Given the description of an element on the screen output the (x, y) to click on. 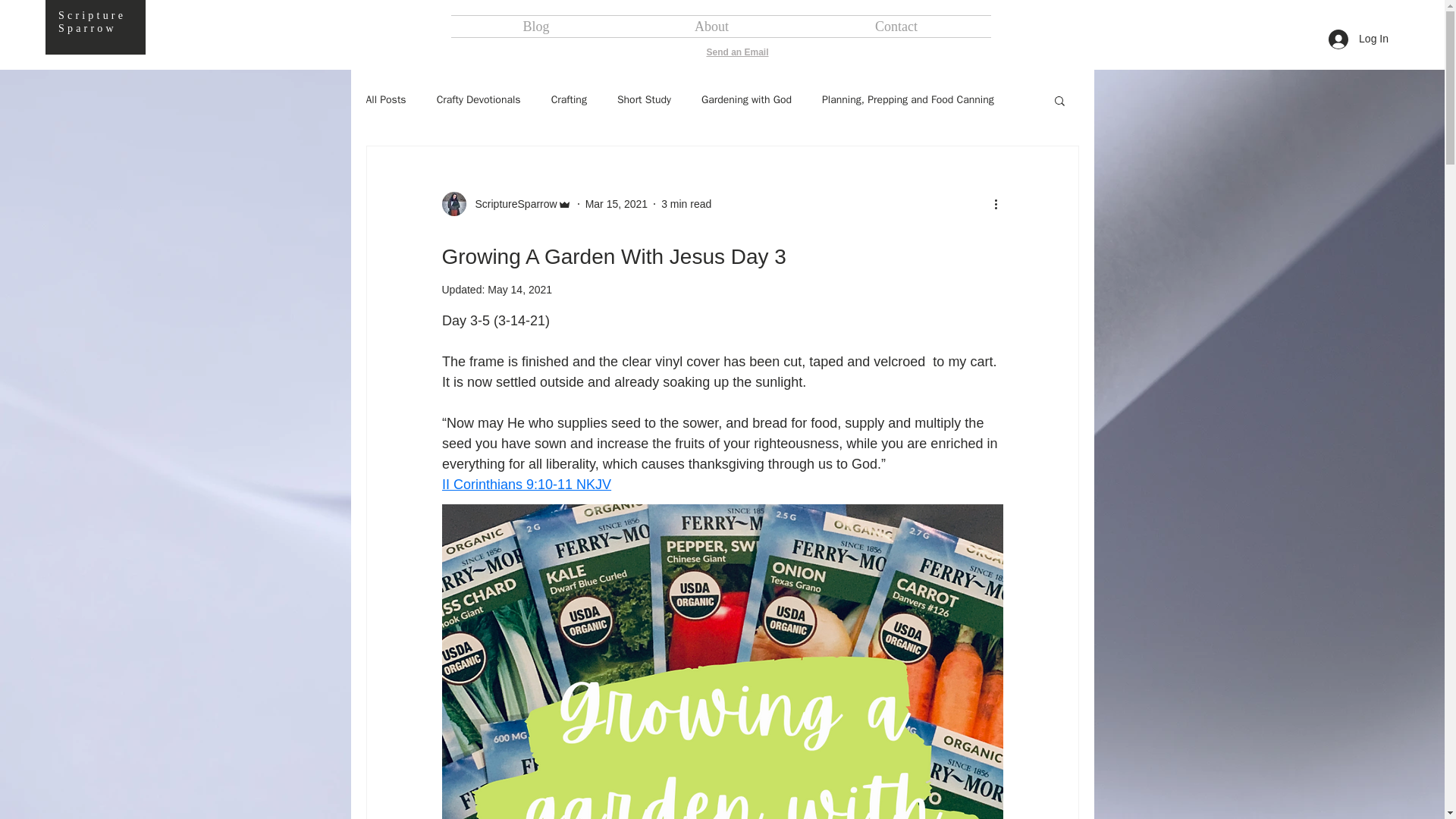
Short Study (644, 100)
May 14, 2021 (519, 289)
Planning, Prepping and Food Canning (908, 100)
Scripture Sparrow (91, 21)
Log In (1358, 38)
Blog (535, 25)
All Posts (385, 100)
Crafty Devotionals (478, 100)
Mar 15, 2021 (616, 203)
ScriptureSparrow (505, 203)
About (711, 25)
II Corinthians 9:10-11 NKJV (525, 484)
Contact (896, 25)
Crafting (568, 100)
Gardening with God (746, 100)
